Given the description of an element on the screen output the (x, y) to click on. 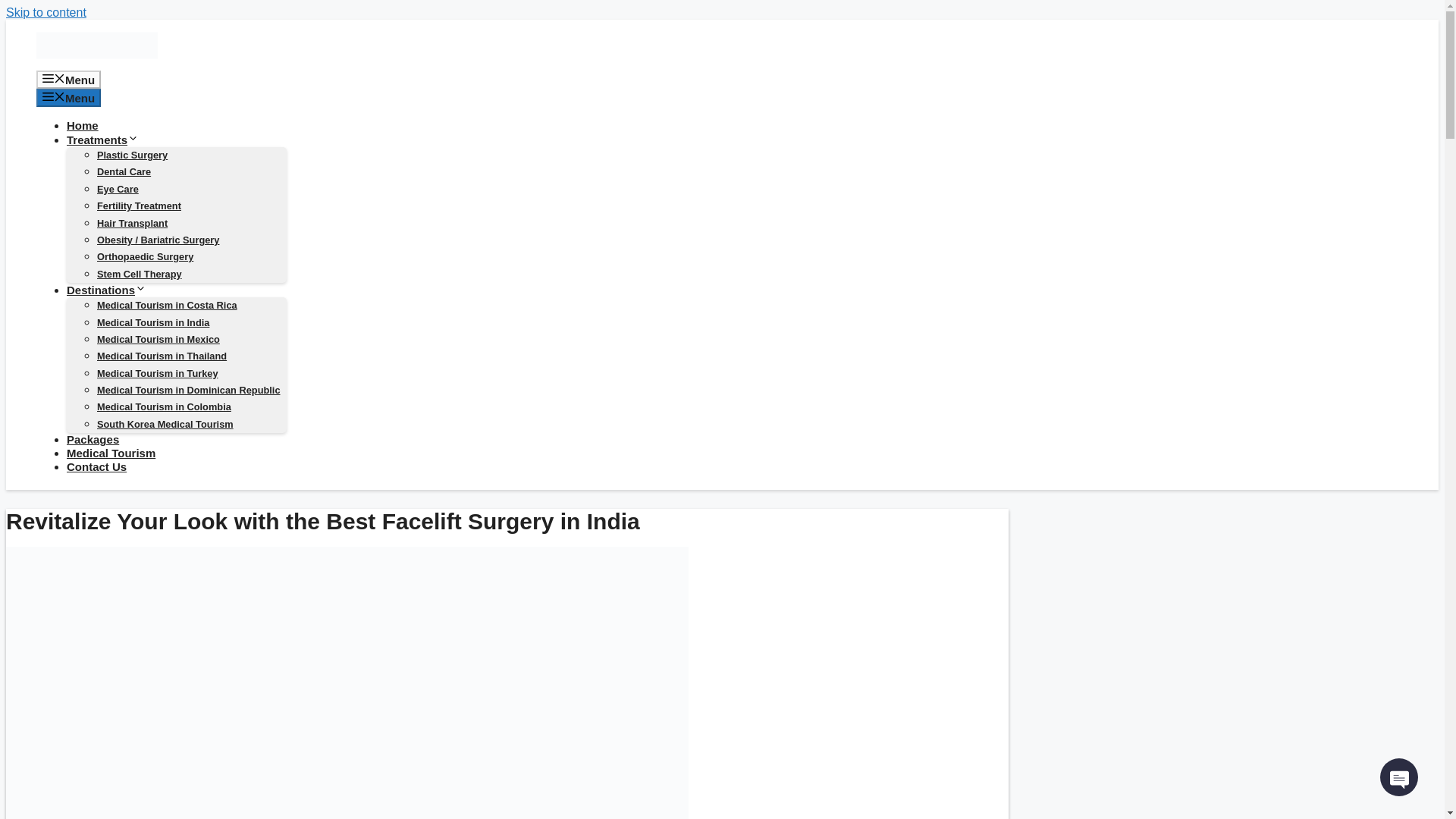
Home (82, 124)
Medical Tourism (110, 452)
Treatments (102, 139)
Contact Us (96, 466)
Skip to content (45, 11)
Menu (68, 97)
Medical Tourism in Mexico (158, 338)
Menu (68, 79)
Eye Care (117, 188)
Dental Care (124, 171)
